Given the description of an element on the screen output the (x, y) to click on. 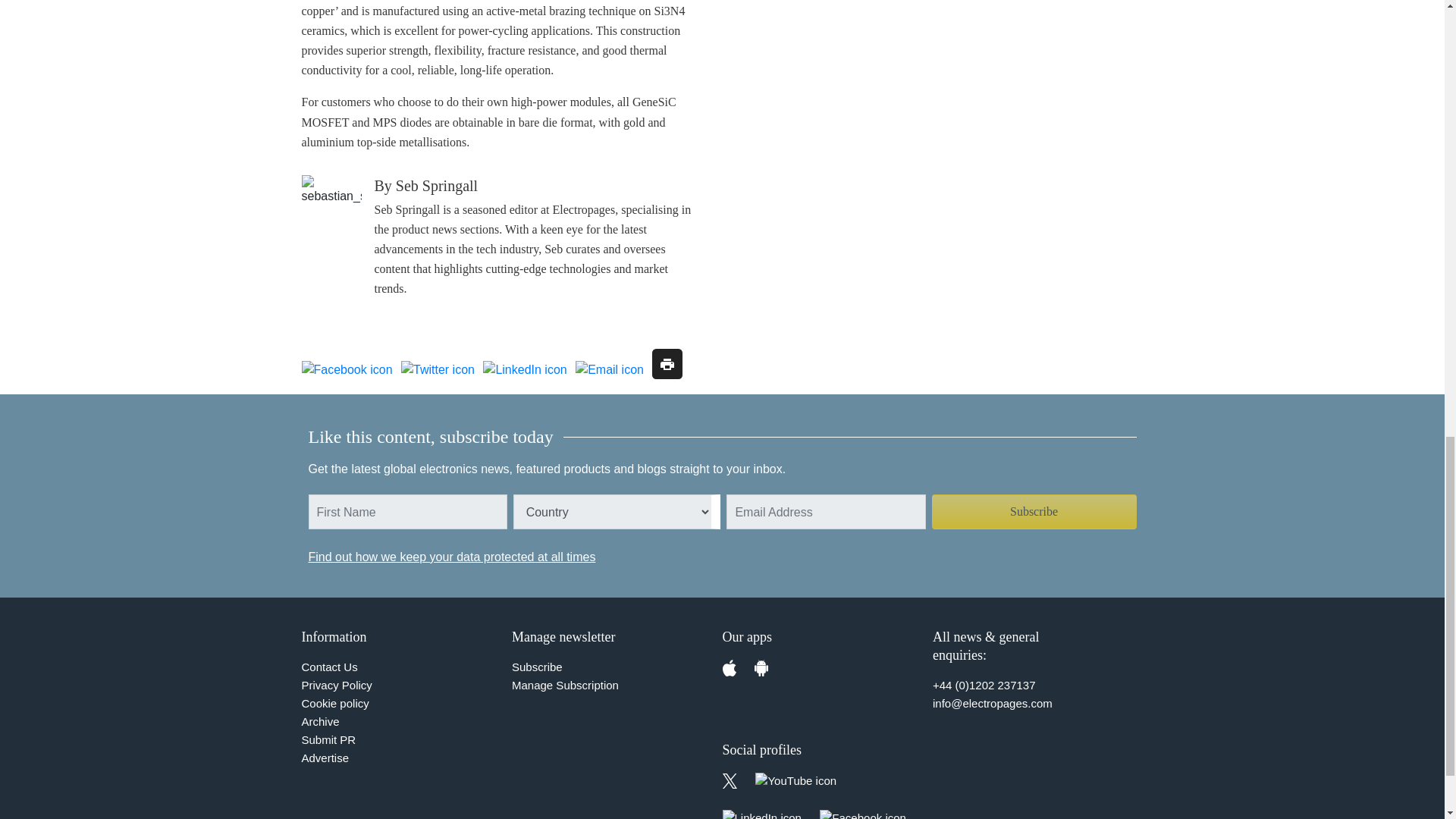
Share on LinkedIn (524, 370)
Send with Email (609, 370)
Share on Facebook (347, 370)
Share on Twitter (437, 370)
